Given the description of an element on the screen output the (x, y) to click on. 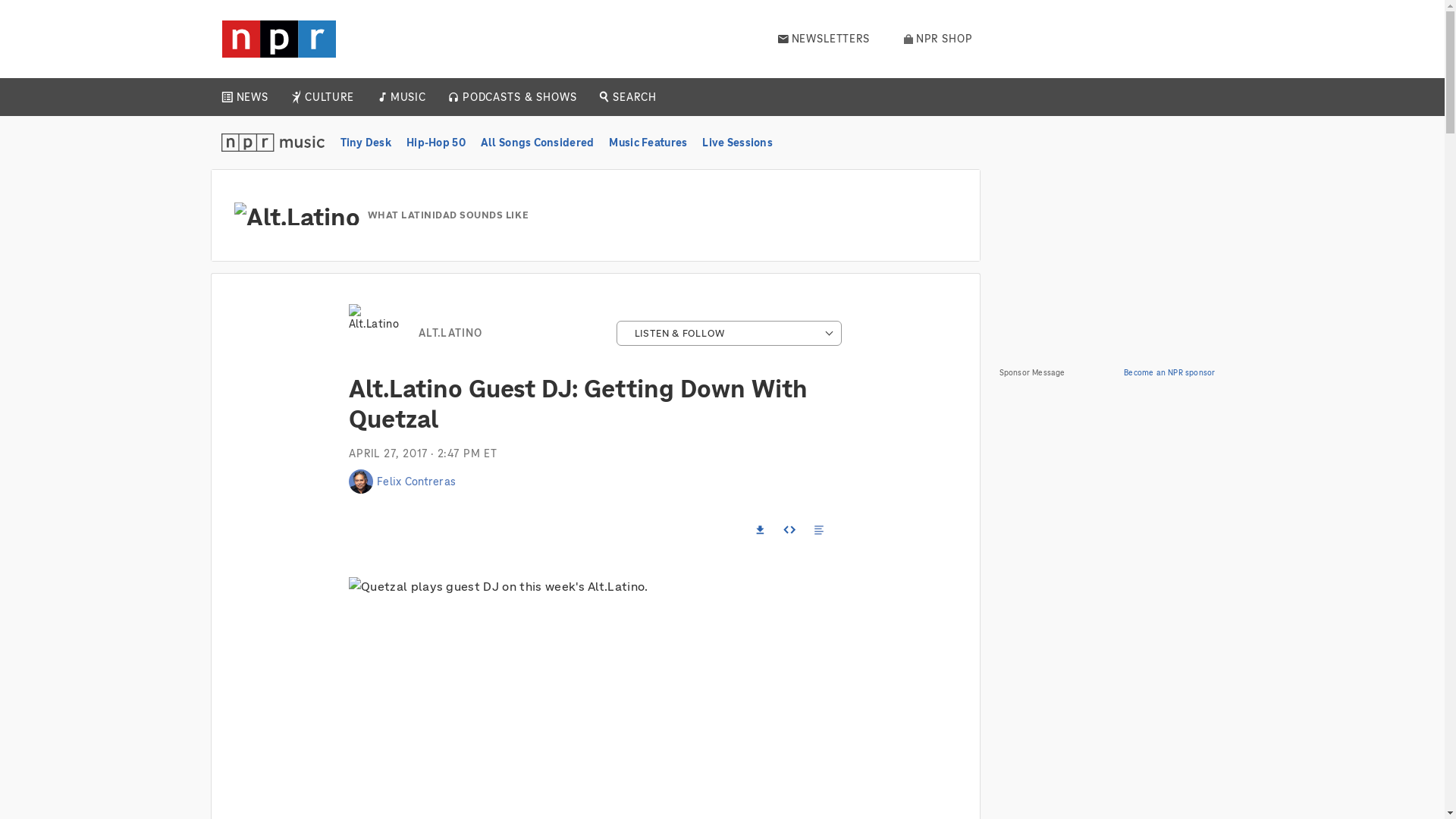
CULTURE (328, 96)
NEWS (251, 96)
NPR SHOP (938, 38)
NEWSLETTERS (823, 38)
MUSIC (407, 96)
